Given the description of an element on the screen output the (x, y) to click on. 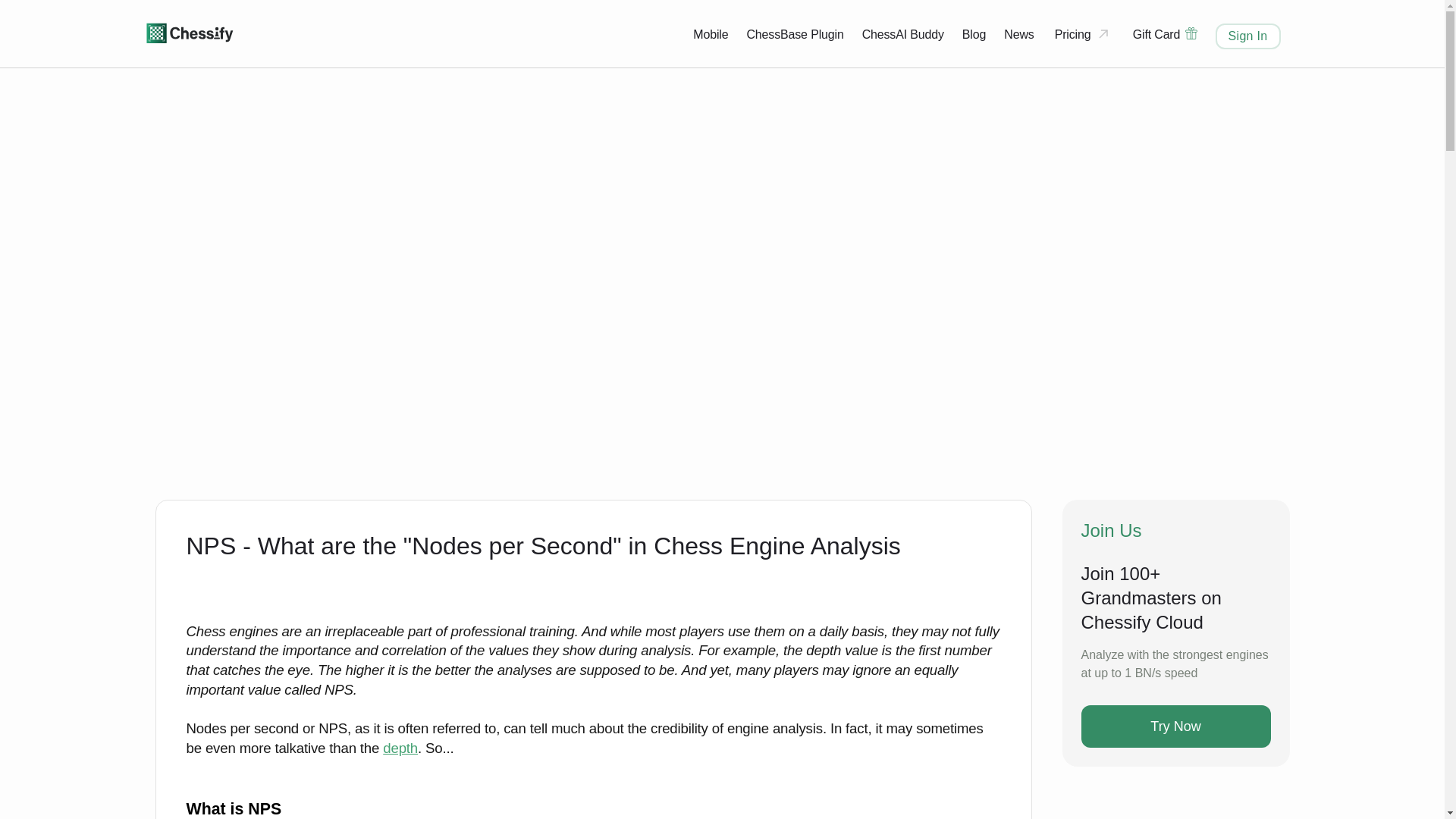
Blog (973, 33)
Sign In (1248, 35)
Pricing (1083, 35)
ChessBase Plugin (794, 33)
depth (399, 747)
Gift Card (1164, 35)
ChessAI Buddy (902, 33)
Try Now (1176, 726)
News (1018, 33)
Mobile (710, 33)
